Given the description of an element on the screen output the (x, y) to click on. 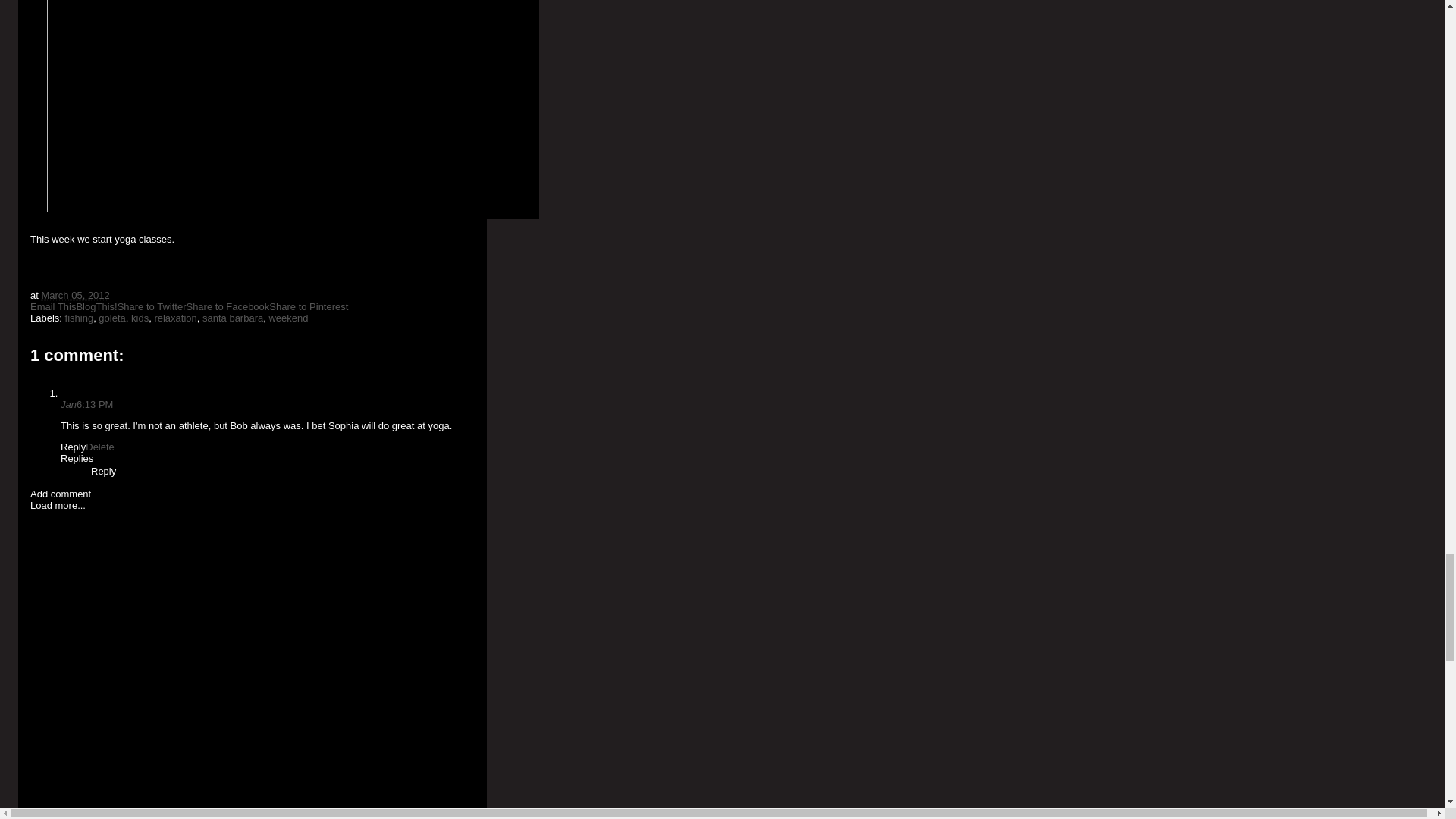
santa barbara (232, 317)
Replies (77, 458)
weekend (287, 317)
Email This (52, 306)
BlogThis! (95, 306)
BlogThis! (95, 306)
fishing (79, 317)
Email Post (118, 295)
Reply (73, 446)
Email This (52, 306)
6:13 PM (95, 404)
relaxation (175, 317)
Share to Twitter (151, 306)
Share to Facebook (227, 306)
Jan (69, 404)
